Given the description of an element on the screen output the (x, y) to click on. 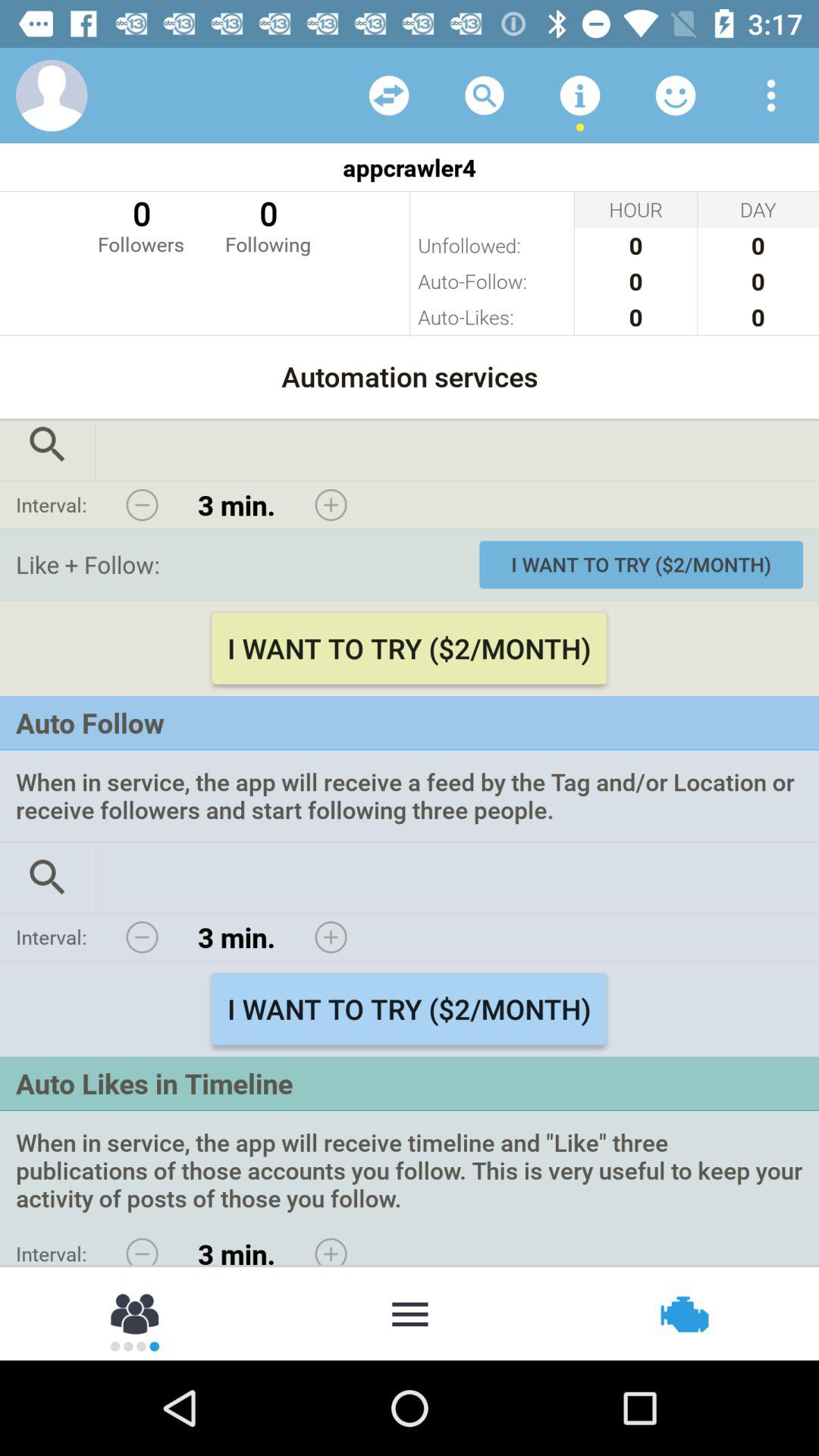
flip to the 0
following icon (268, 224)
